Given the description of an element on the screen output the (x, y) to click on. 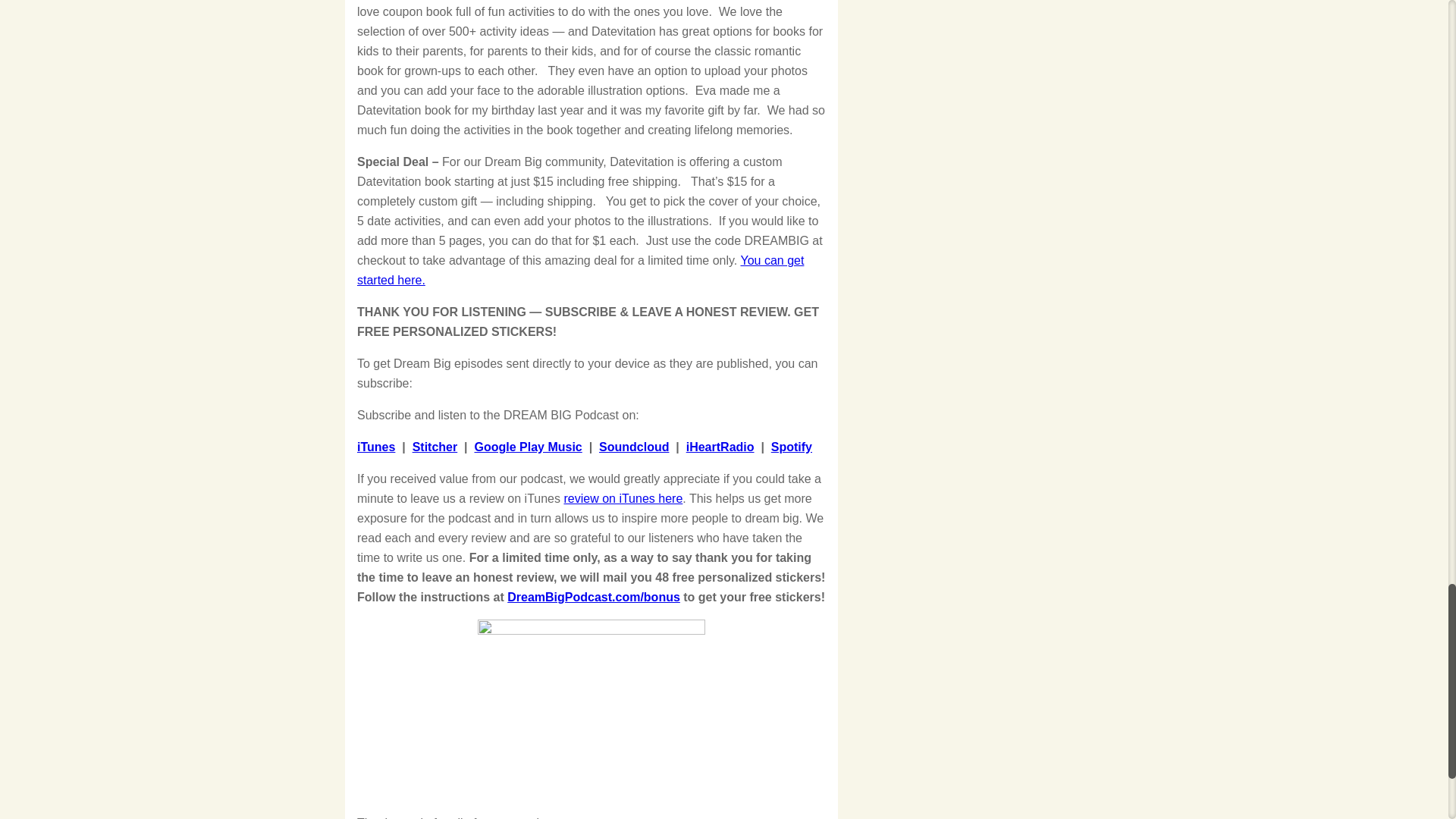
Stitcher (435, 446)
Soundcloud (633, 446)
You can get started here. (579, 269)
Google Play Music (527, 446)
iTunes (375, 446)
